Given the description of an element on the screen output the (x, y) to click on. 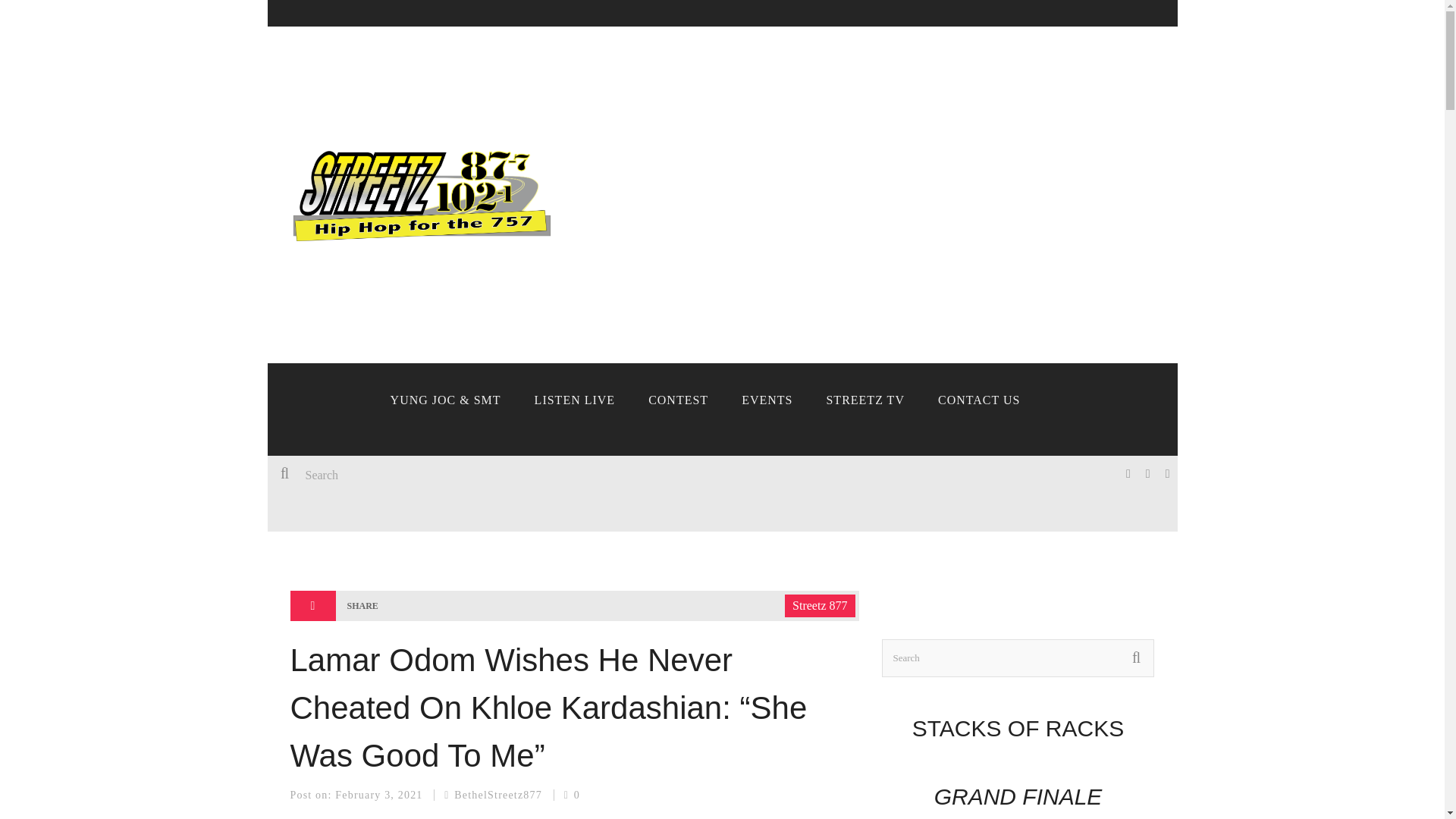
Search (1018, 657)
Posts by BethelStreetz877 (497, 794)
LISTEN LIVE (574, 400)
CONTEST (678, 400)
STREETZ TV (864, 400)
Search (494, 475)
CONTACT US (979, 400)
EVENTS (767, 400)
